Given the description of an element on the screen output the (x, y) to click on. 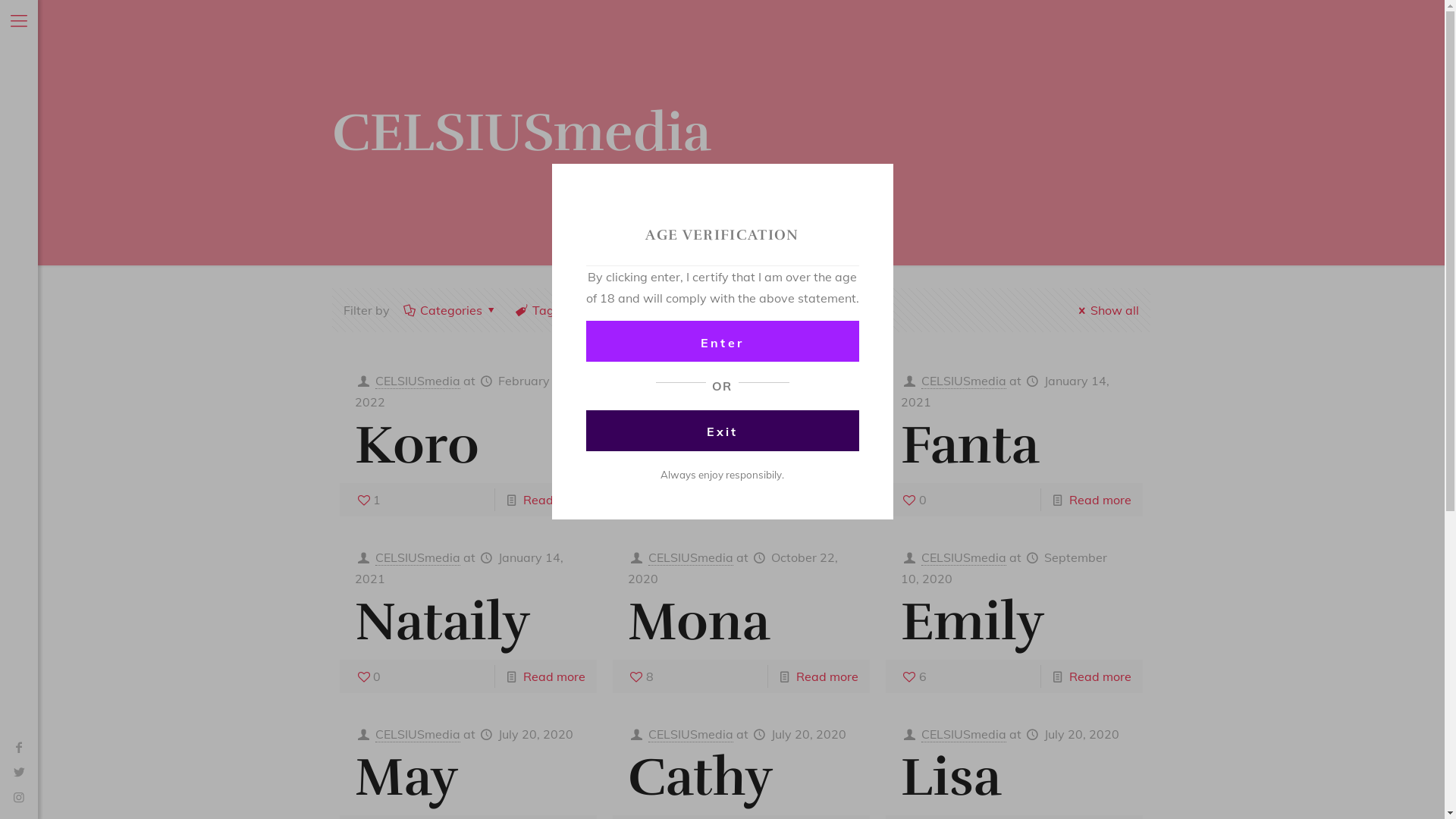
Read more Element type: text (827, 676)
Show all Element type: text (1106, 309)
CELSIUSmedia Element type: text (690, 381)
0 Element type: text (913, 499)
CELSIUSmedia Element type: text (417, 734)
Read more Element type: text (1100, 499)
CELSIUSmedia Element type: text (963, 734)
Authors Element type: text (629, 309)
CELSIUSmedia Element type: text (690, 734)
May Element type: text (406, 776)
Mona Element type: text (698, 621)
Read more Element type: text (554, 676)
0 Element type: text (367, 676)
1 Element type: text (367, 499)
6 Element type: text (913, 676)
Lisa Element type: text (950, 776)
Cathy Element type: text (699, 776)
Twitter Element type: hover (18, 771)
Read more Element type: text (827, 499)
Emily Element type: text (972, 621)
Mina Element type: text (691, 444)
Fanta Element type: text (969, 444)
Read more Element type: text (554, 499)
Categories Element type: text (451, 309)
8 Element type: text (640, 676)
Enter Element type: text (721, 340)
26 Element type: text (644, 499)
Read more Element type: text (1100, 676)
Exit Element type: text (721, 430)
CELSIUSmedia Element type: text (690, 557)
Instagram Element type: hover (18, 796)
Koro Element type: text (416, 444)
CELSIUSmedia Element type: text (417, 557)
Tags Element type: text (545, 309)
CELSIUSmedia Element type: text (963, 557)
CELSIUSmedia Element type: text (417, 381)
Facebook Element type: hover (18, 746)
Nataily Element type: text (442, 621)
CELSIUSmedia Element type: text (963, 381)
